Given the description of an element on the screen output the (x, y) to click on. 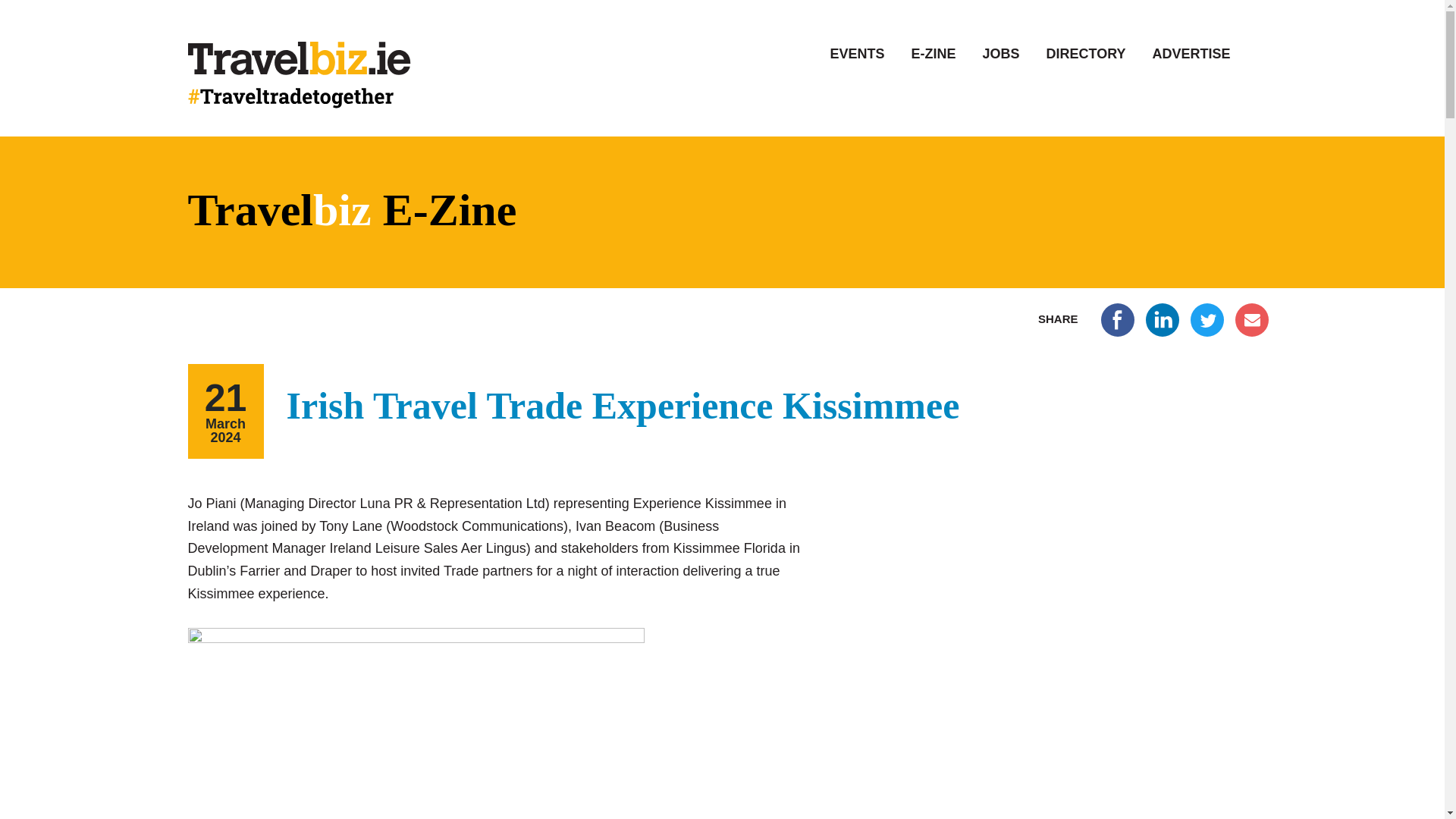
Search (25, 11)
E-Zine (933, 53)
DIRECTORY (1085, 53)
Events (856, 53)
Directory (1085, 53)
EVENTS (856, 53)
Advertise (1190, 53)
ADVERTISE (1190, 53)
E-ZINE (933, 53)
Jobs (1000, 53)
JOBS (1000, 53)
